Given the description of an element on the screen output the (x, y) to click on. 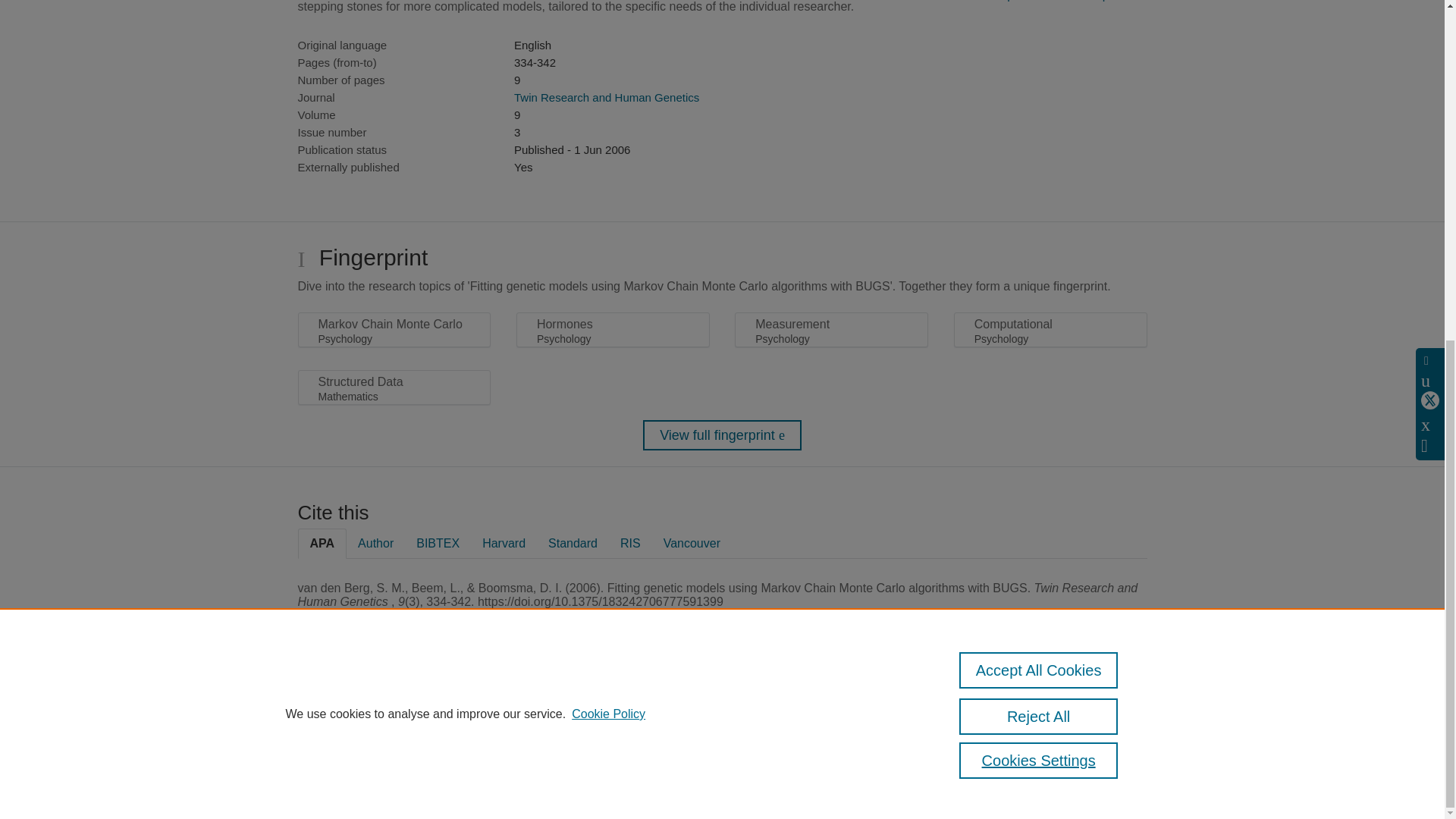
Pure (362, 707)
Twin Research and Human Genetics (605, 97)
Cookies Settings (334, 780)
use of cookies (796, 759)
View full fingerprint (722, 435)
Scopus (394, 707)
Elsevier B.V. (506, 727)
